Given the description of an element on the screen output the (x, y) to click on. 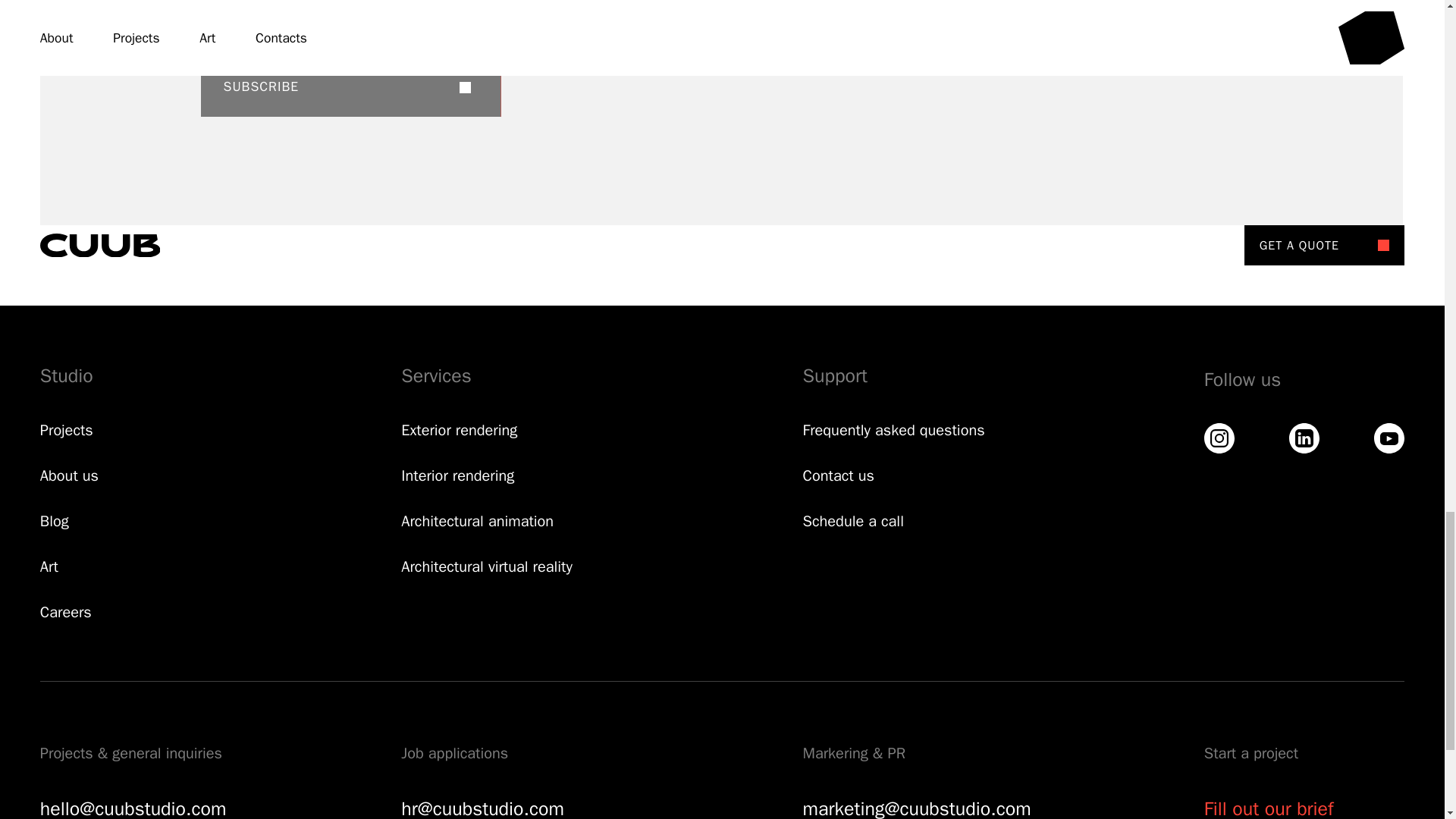
SUBSCRIBE (350, 86)
Instagram (1219, 438)
YouTube (1389, 438)
LinkedIn (1303, 438)
